Given the description of an element on the screen output the (x, y) to click on. 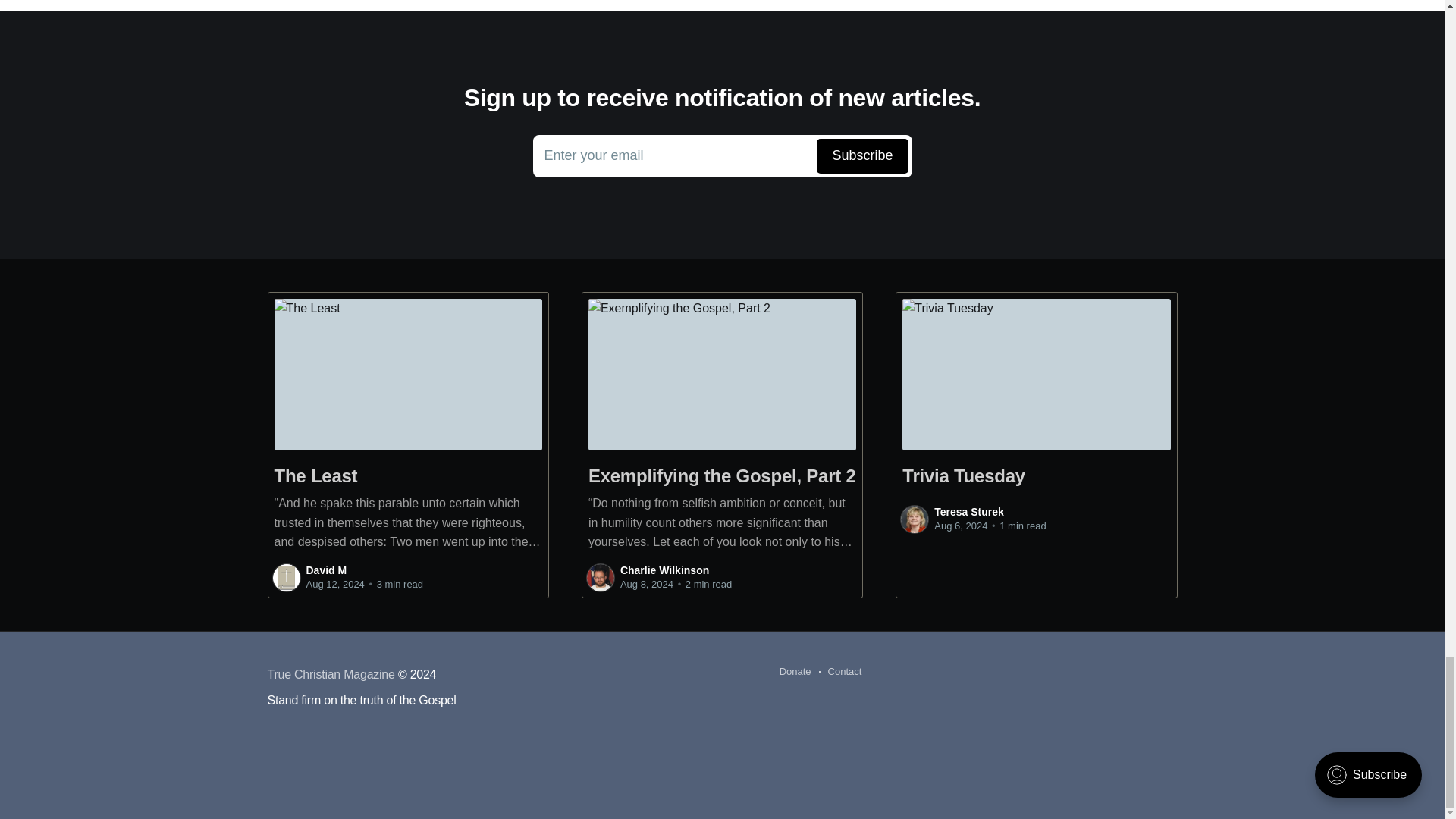
Contact (839, 671)
True Christian Magazine (330, 674)
Teresa Sturek (969, 511)
David M (326, 570)
Charlie Wilkinson (664, 570)
Donate (721, 156)
Trivia Tuesday (794, 671)
